Given the description of an element on the screen output the (x, y) to click on. 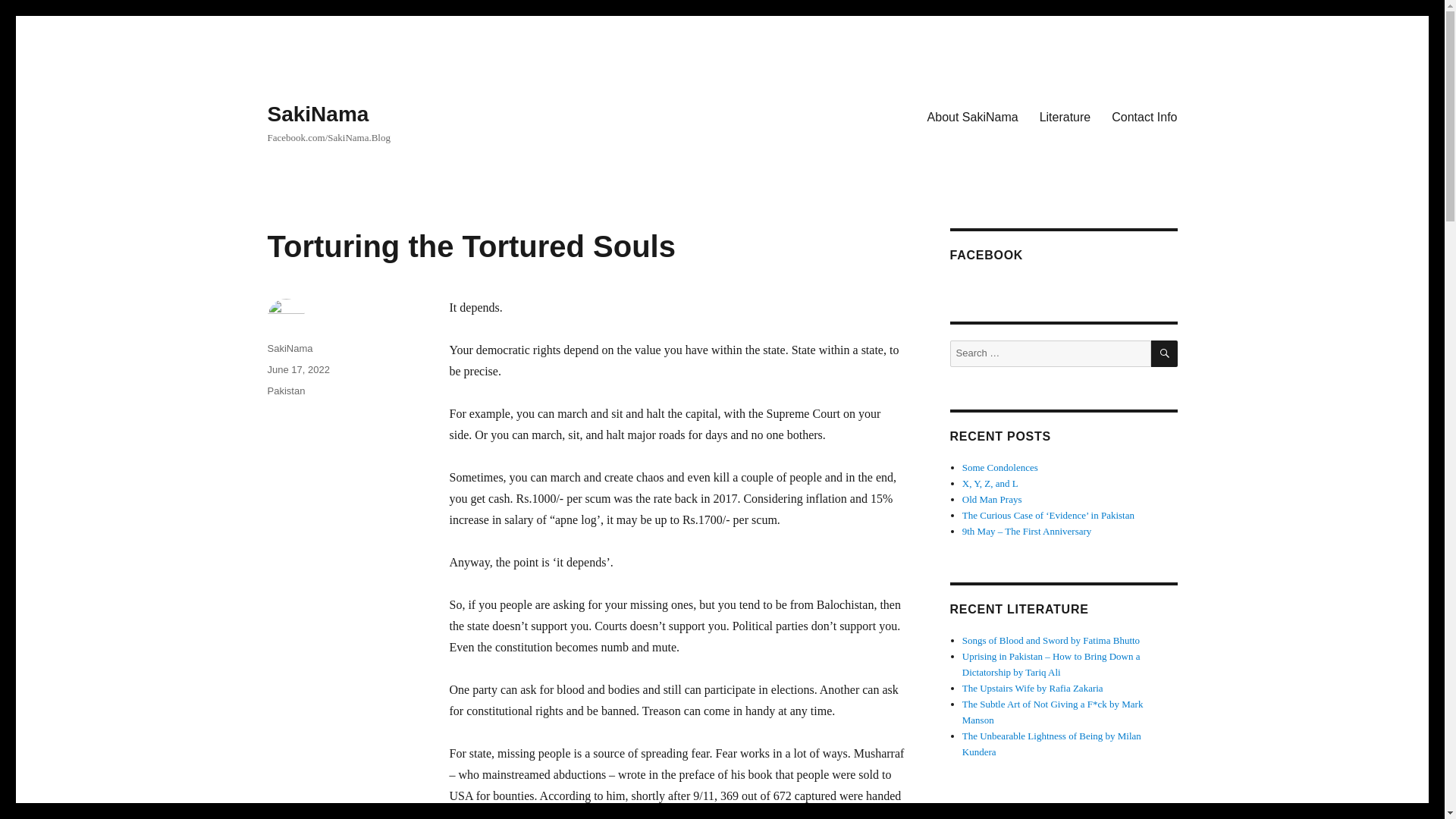
SEARCH (1164, 353)
Contact Info (1144, 116)
Songs of Blood and Sword by Fatima Bhutto (1051, 640)
Some Condolences (1000, 467)
Literature (1065, 116)
X, Y, Z, and L (989, 482)
Pakistan (285, 390)
The Unbearable Lightness of Being by Milan Kundera (1051, 743)
June 17, 2022 (297, 369)
SakiNama (317, 114)
Old Man Prays (992, 499)
The Upstairs Wife by Rafia Zakaria (1032, 687)
About SakiNama (973, 116)
SakiNama (289, 348)
